Given the description of an element on the screen output the (x, y) to click on. 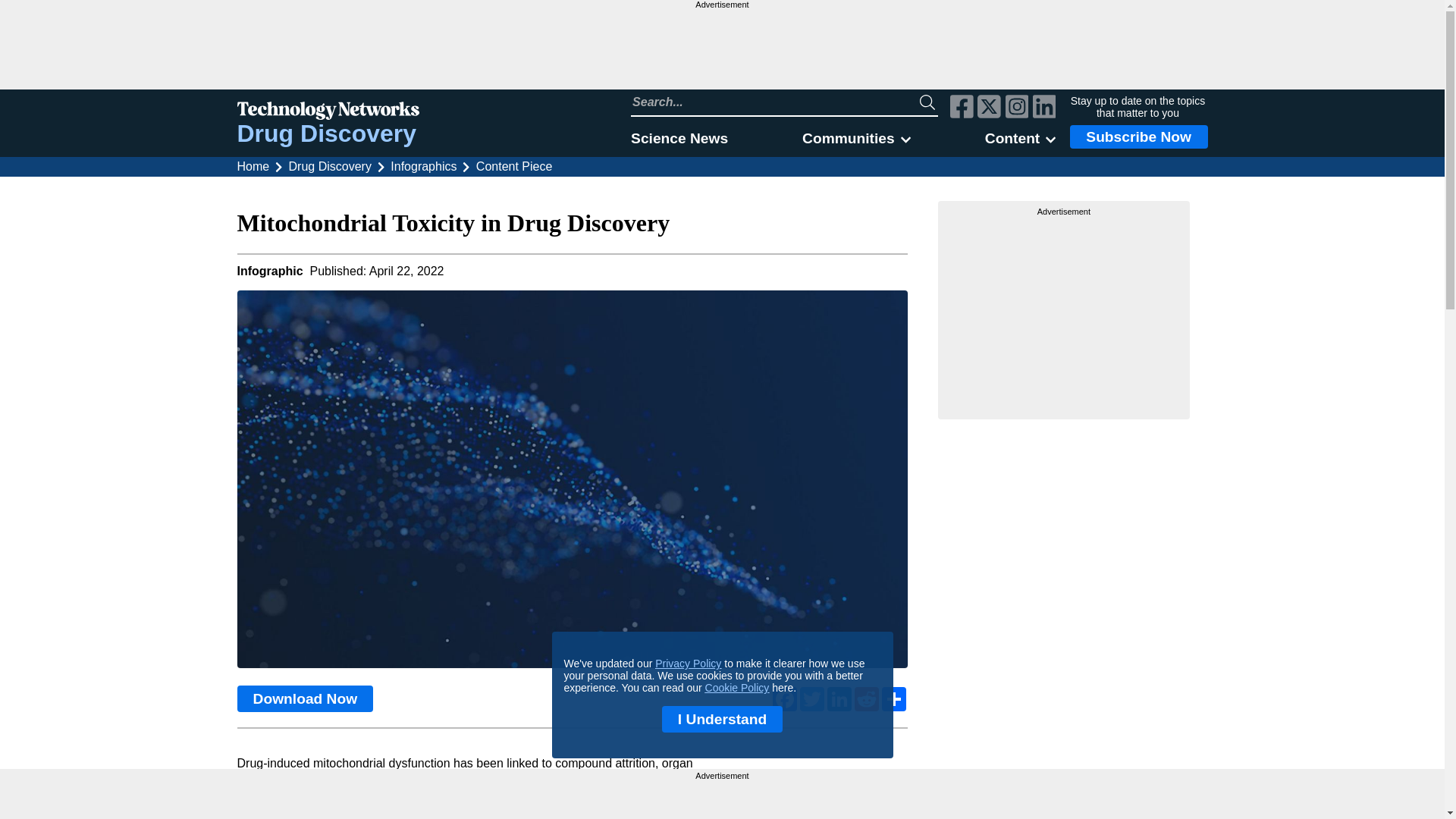
Cookie Policy (737, 687)
3rd party ad content (1063, 312)
Privacy Policy (687, 663)
Search Technology Networks website input field (775, 102)
3rd party ad content (722, 799)
I Understand (722, 718)
3rd party ad content (721, 49)
Technology Networks logo (327, 112)
